Given the description of an element on the screen output the (x, y) to click on. 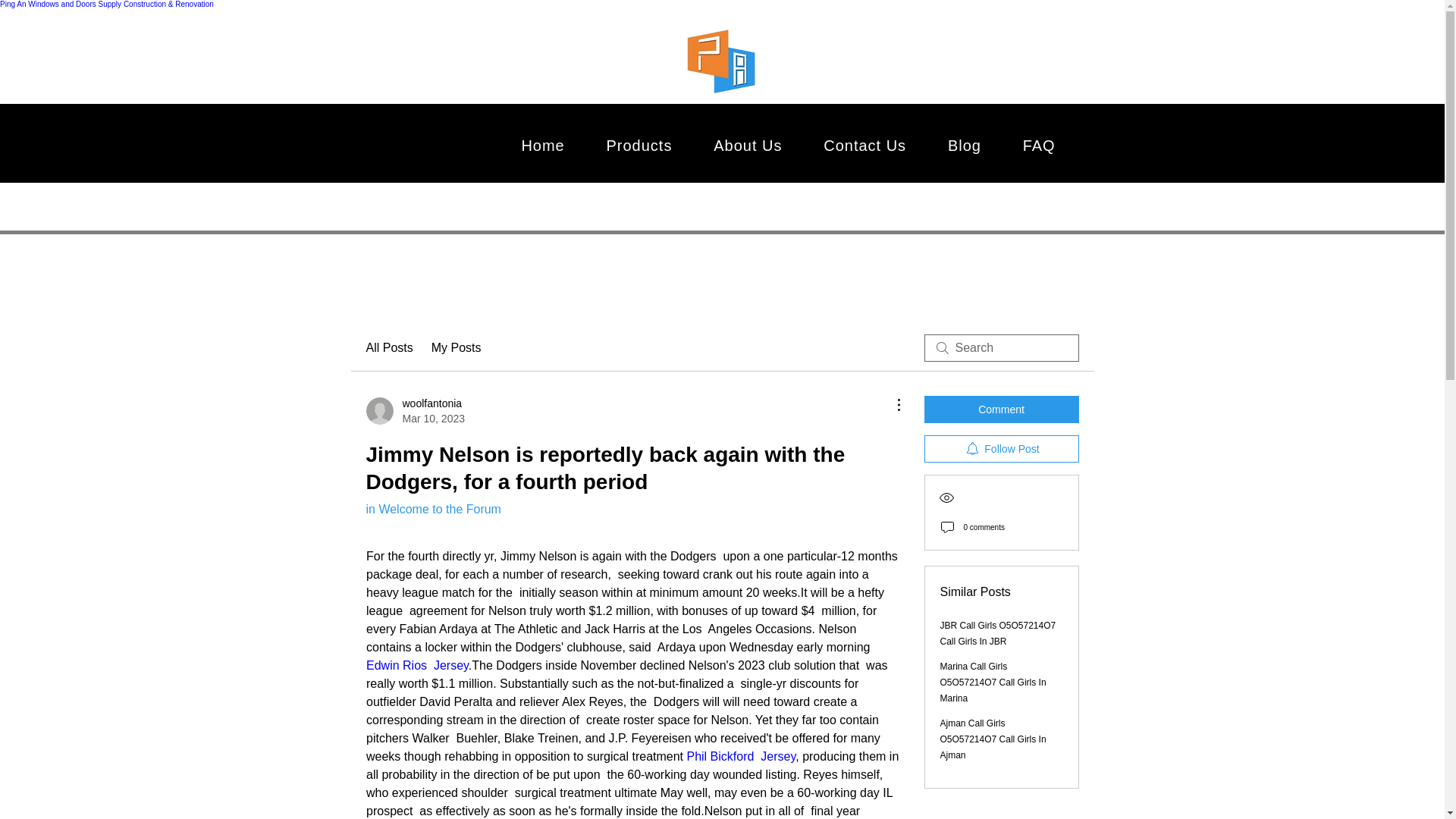
Ajman Call Girls O5O57214O7 Call Girls In Ajman (993, 739)
Comment (1000, 409)
All Posts (388, 348)
FAQ (1038, 145)
in Welcome to the Forum (432, 508)
Contact Us (865, 145)
About Us (747, 145)
JBR Call Girls O5O57214O7 Call Girls In JBR (998, 633)
My Posts (455, 348)
Marina Call Girls O5O57214O7 Call Girls In Marina (993, 681)
Phil Bickford  Jersey (739, 756)
Edwin Rios  Jersey (416, 665)
Home (542, 145)
Products (639, 145)
Blog (964, 145)
